Given the description of an element on the screen output the (x, y) to click on. 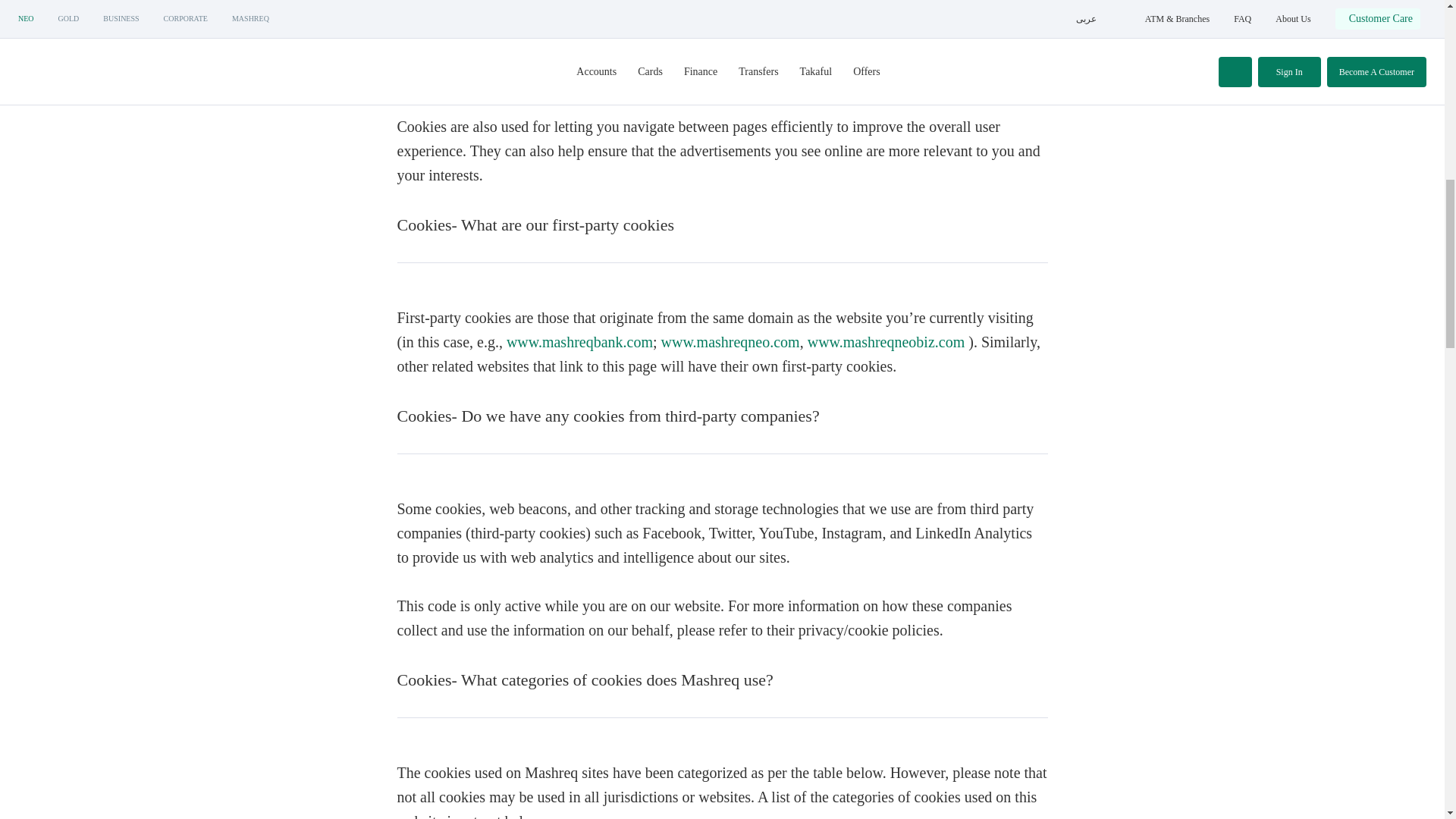
www.mashreqneo.com (730, 341)
www.mashreqneobiz.com (886, 341)
www.mashreqbank.com (579, 341)
